Given the description of an element on the screen output the (x, y) to click on. 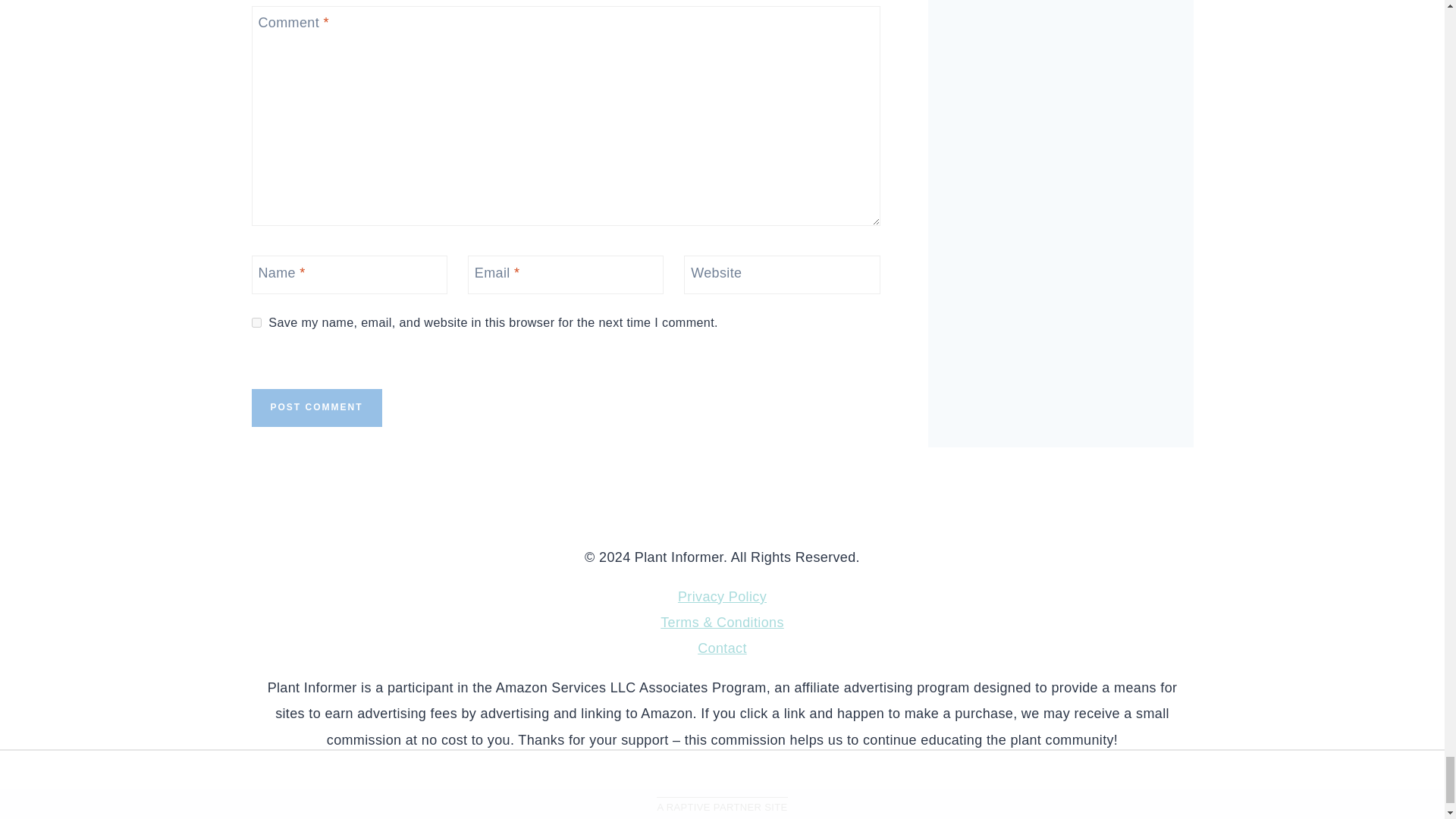
yes (256, 322)
Post Comment (316, 407)
